Given the description of an element on the screen output the (x, y) to click on. 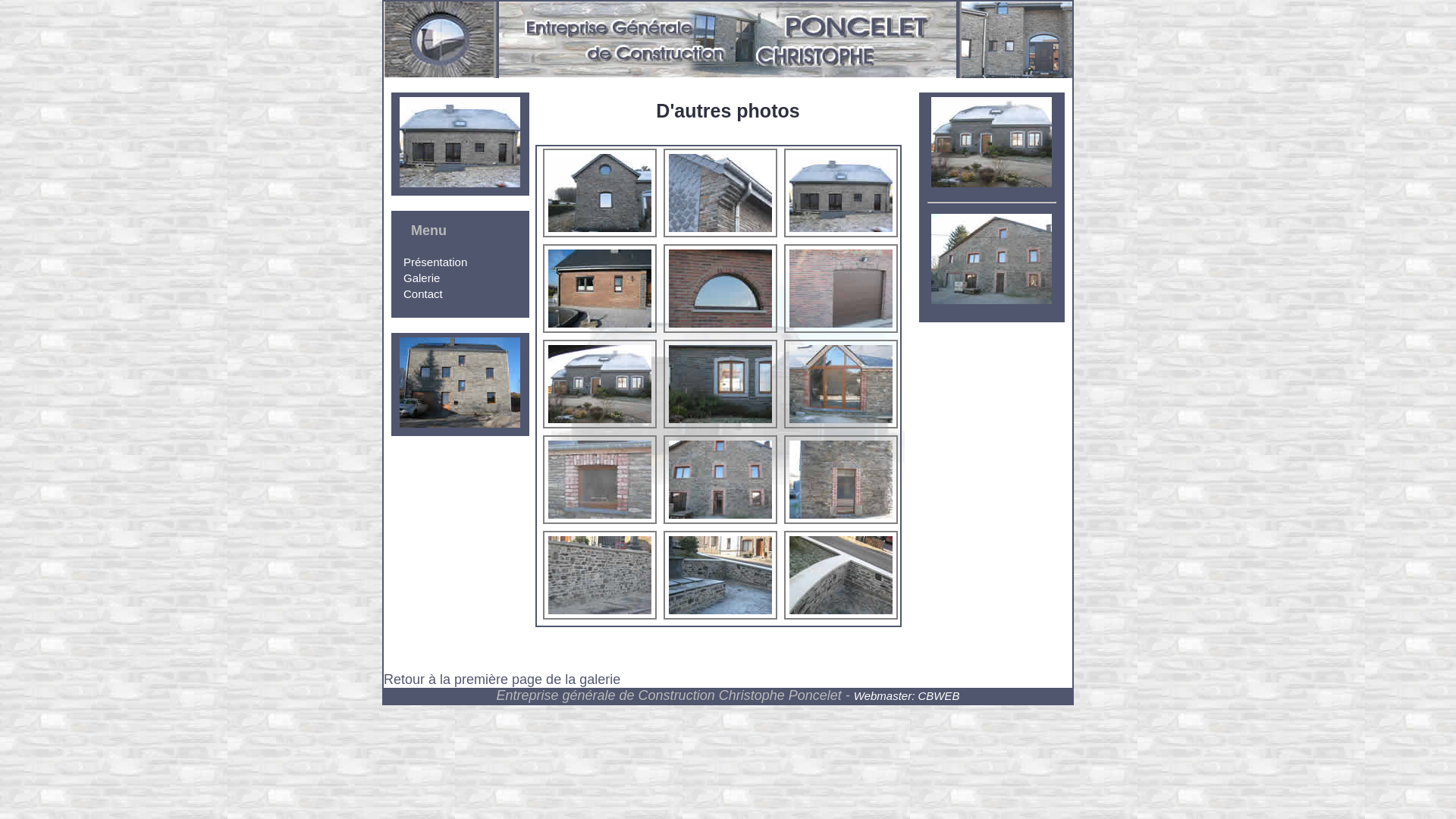
Agrandir Element type: hover (840, 383)
Agrandir Element type: hover (840, 288)
Agrandir Element type: hover (720, 383)
Agrandir Element type: hover (840, 192)
Webmaster: CBWEB Element type: text (906, 695)
Agrandir Element type: hover (599, 192)
Agrandir Element type: hover (720, 288)
Galerie Element type: text (421, 277)
Agrandir Element type: hover (720, 192)
Agrandir Element type: hover (599, 383)
Agrandir Element type: hover (599, 288)
Agrandir Element type: hover (840, 574)
Contact Element type: text (422, 293)
Agrandir Element type: hover (599, 574)
Agrandir Element type: hover (840, 479)
Agrandir Element type: hover (599, 479)
Agrandir Element type: hover (720, 574)
Agrandir Element type: hover (720, 479)
